Given the description of an element on the screen output the (x, y) to click on. 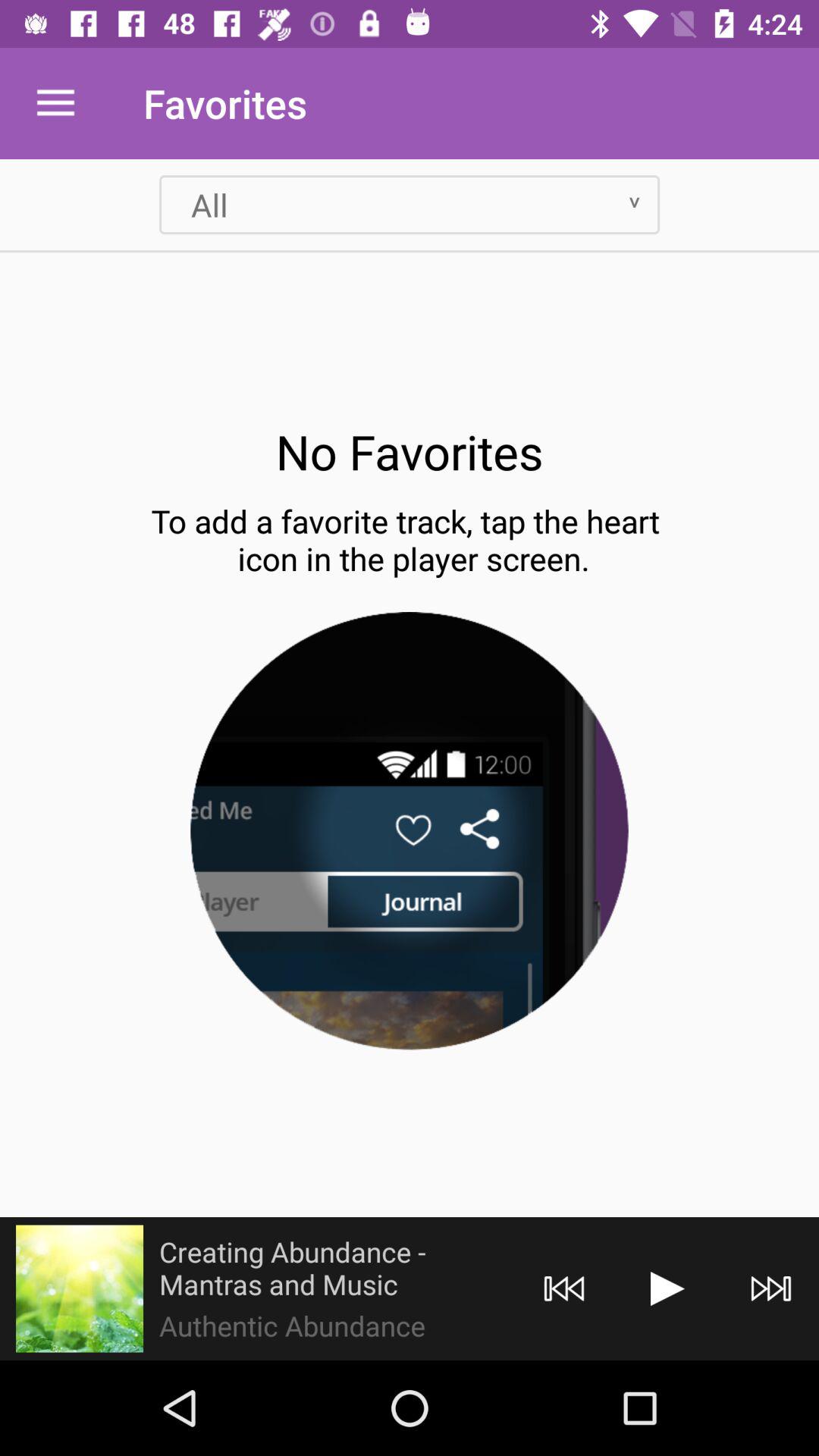
skip forwards (771, 1288)
